Given the description of an element on the screen output the (x, y) to click on. 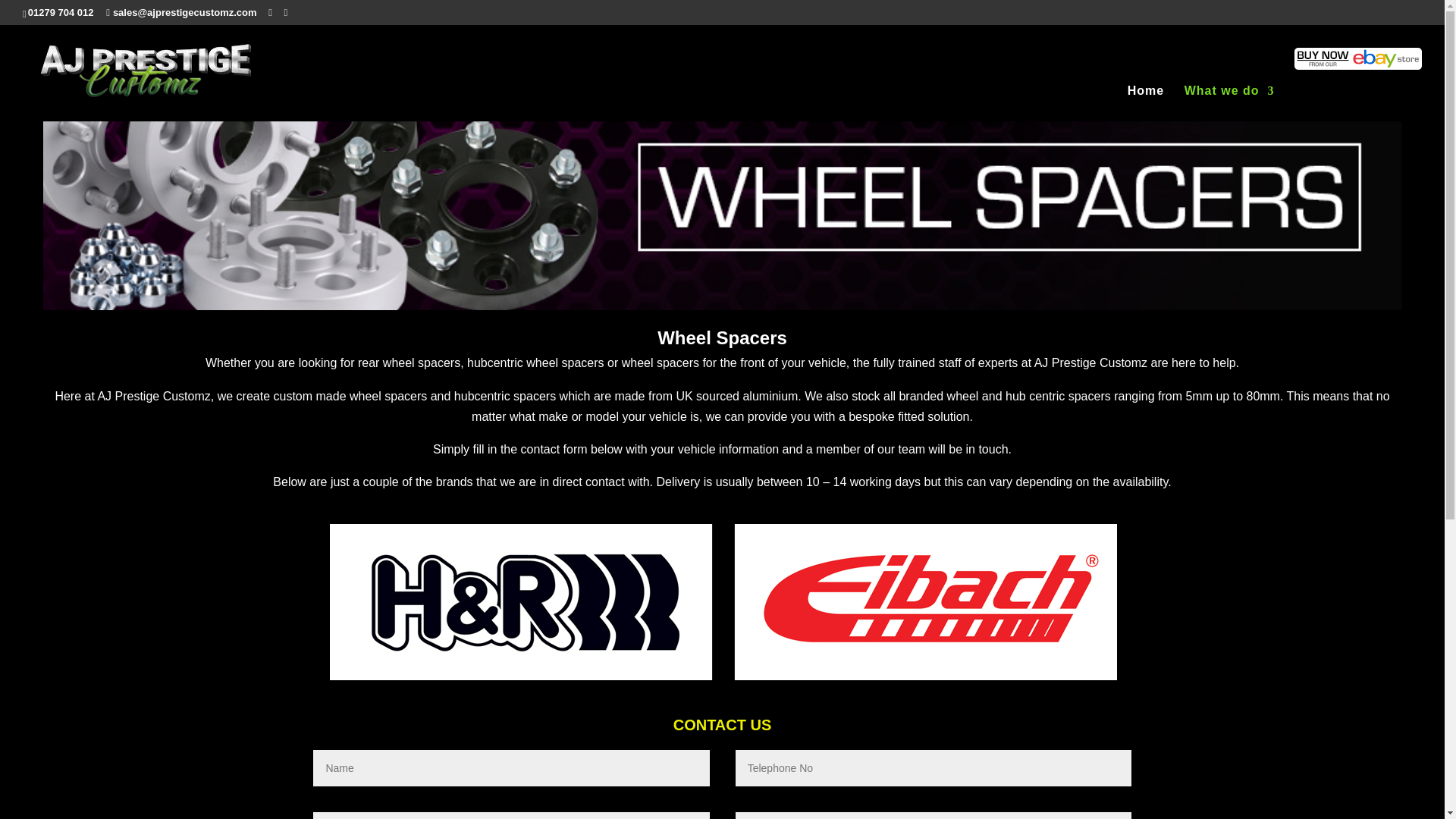
Home (1144, 102)
What we do (1230, 102)
